Given the description of an element on the screen output the (x, y) to click on. 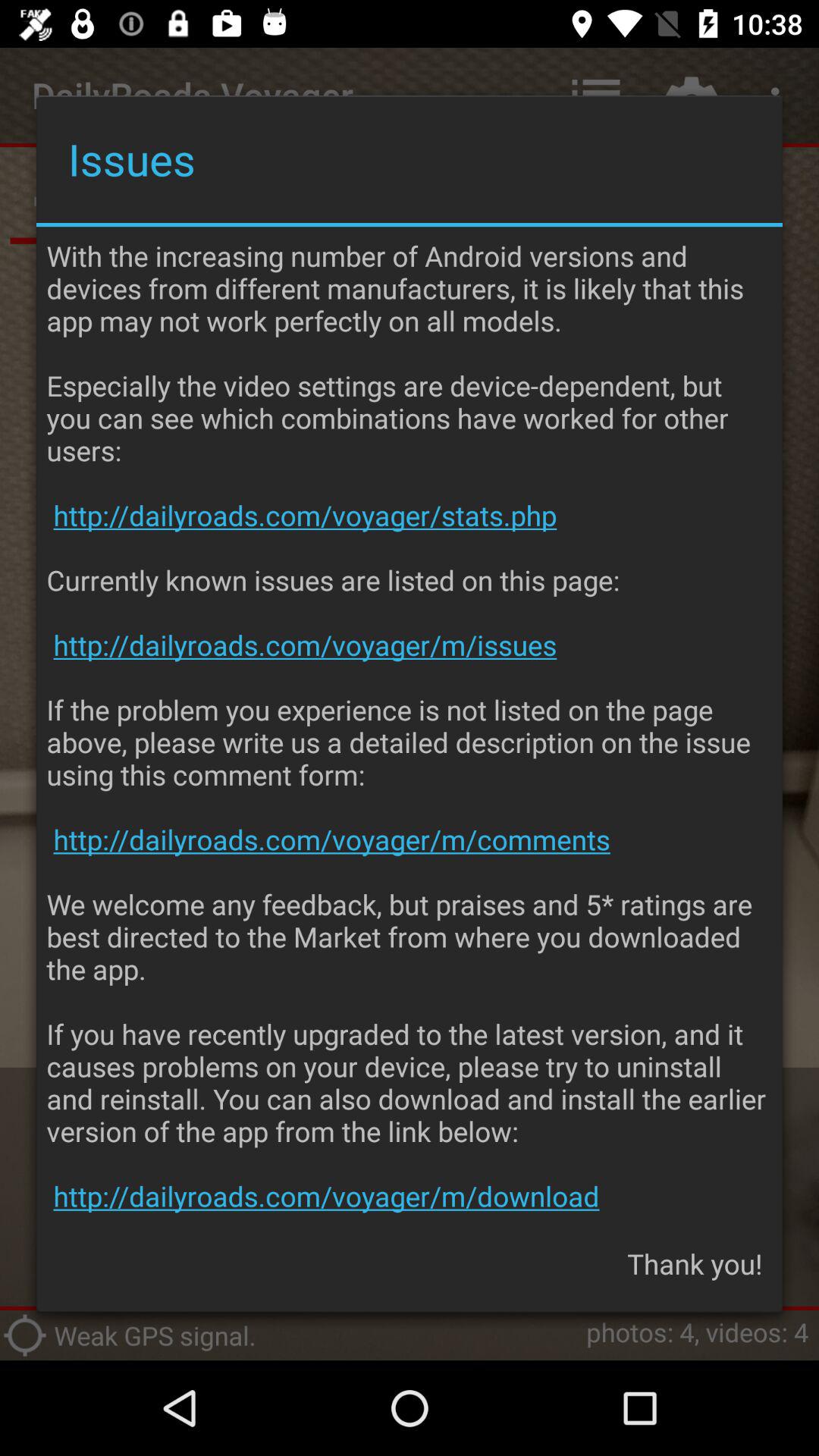
click with the increasing app (409, 725)
